Given the description of an element on the screen output the (x, y) to click on. 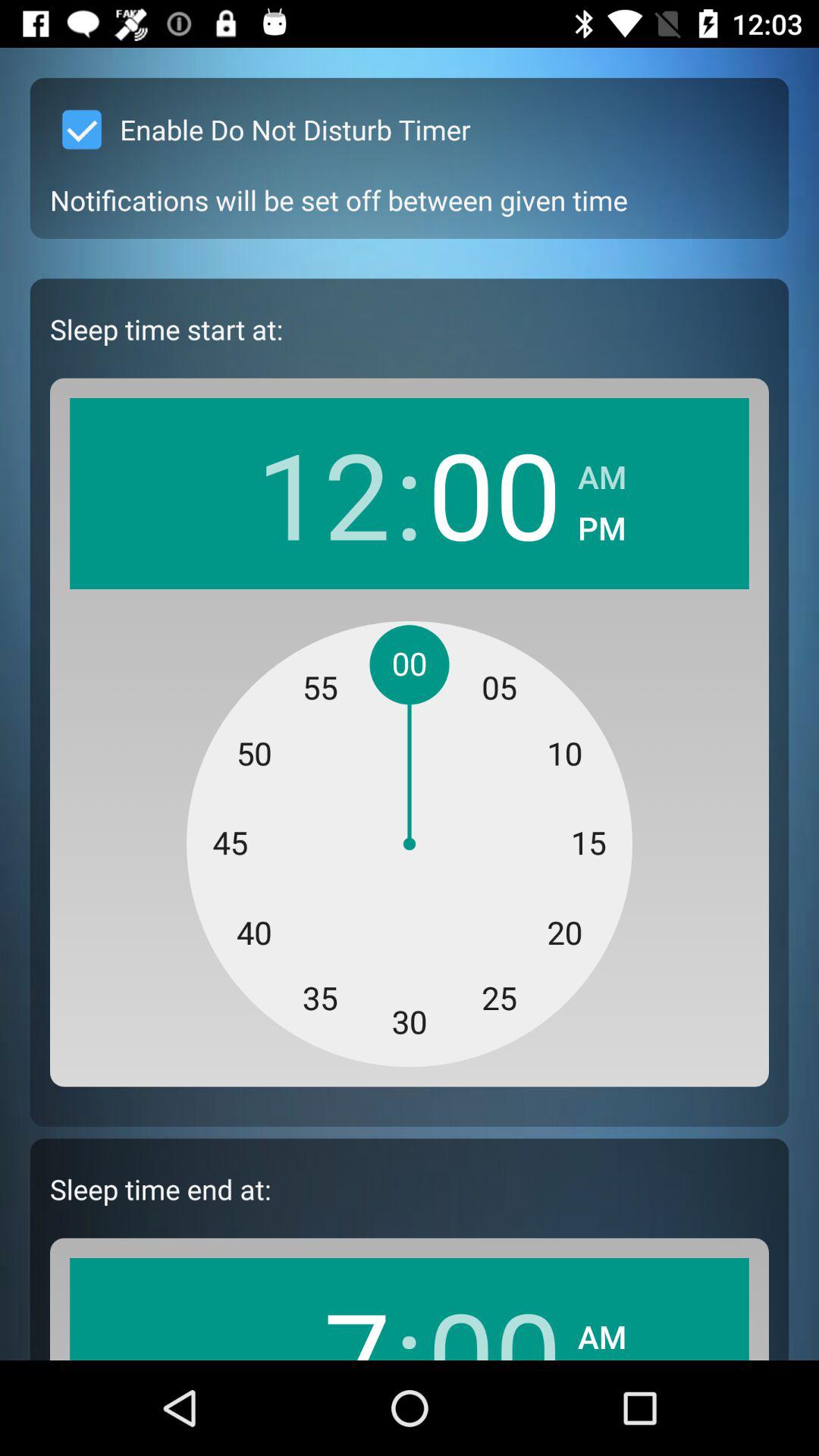
tap 12 item (323, 493)
